Given the description of an element on the screen output the (x, y) to click on. 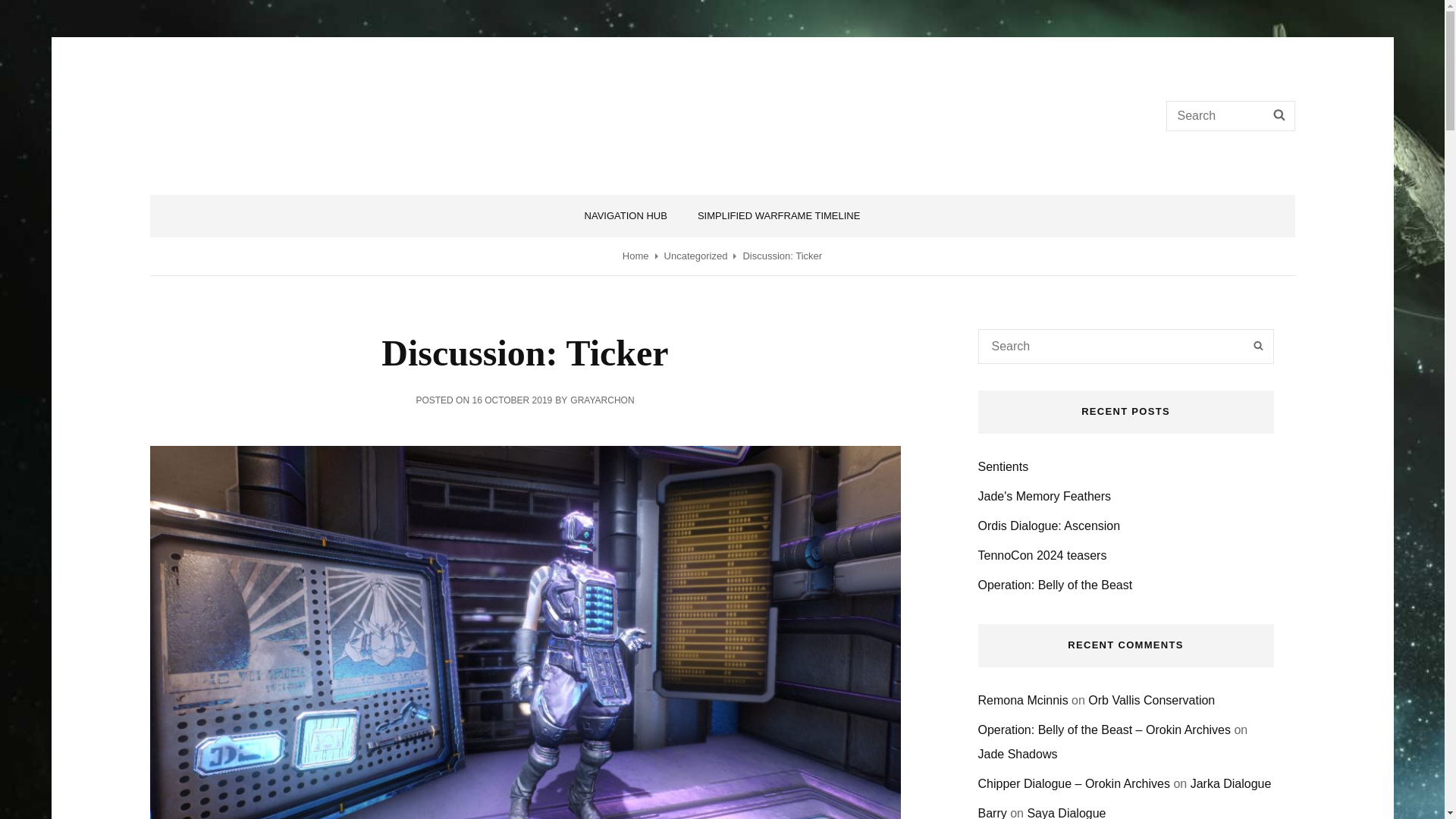
NAVIGATION HUB (625, 215)
SEARCH (1278, 115)
16 OCTOBER 2019 (511, 399)
SIMPLIFIED WARFRAME TIMELINE (779, 215)
Orokin Archives (277, 105)
Home (636, 255)
Uncategorized (695, 255)
GRAYARCHON (601, 399)
